Given the description of an element on the screen output the (x, y) to click on. 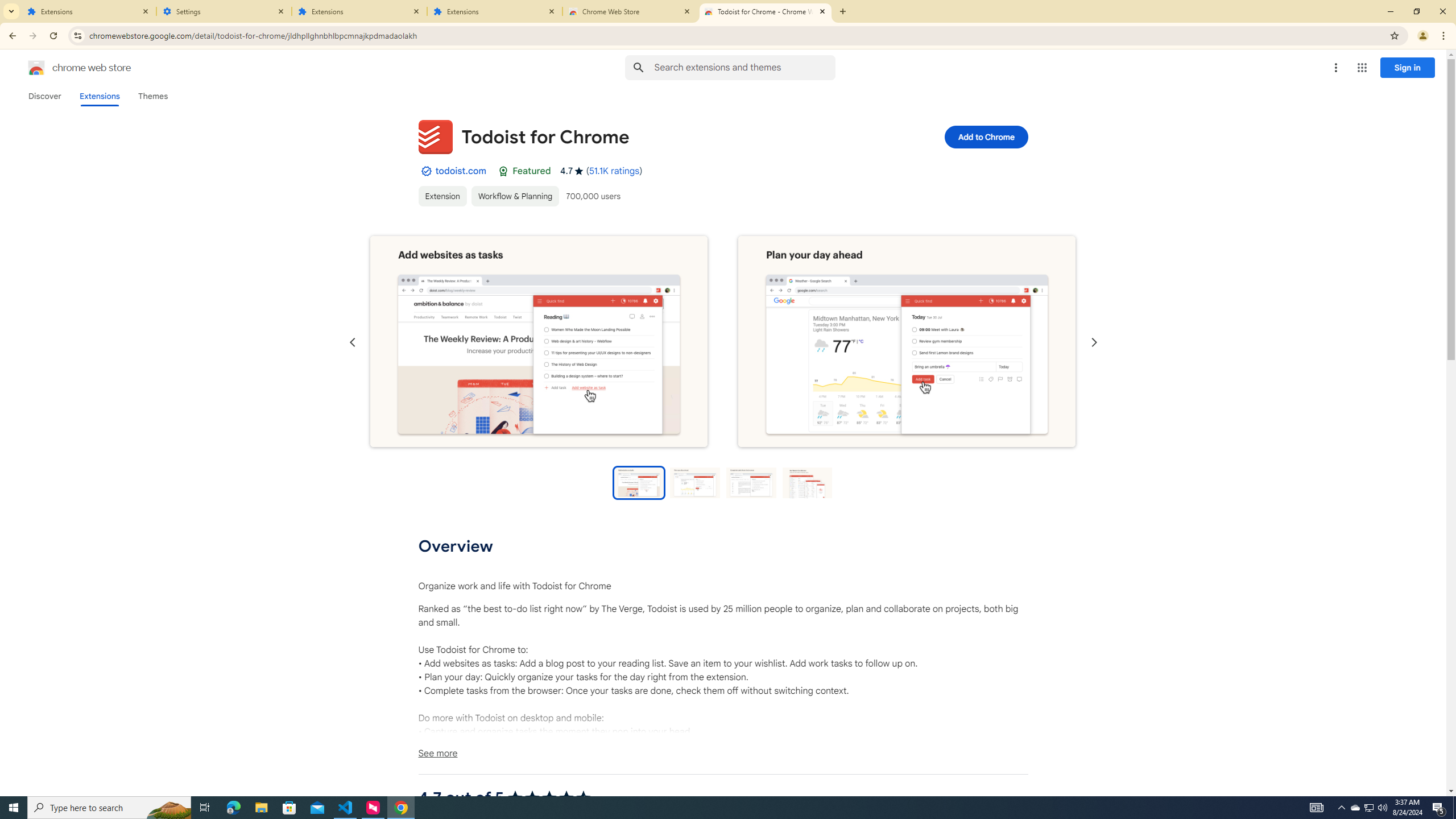
Preview slide 2 (694, 482)
Item media 2 screenshot (906, 341)
Item media 1 screenshot (538, 341)
Item media 2 screenshot (906, 342)
Next slide (1093, 342)
Workflow & Planning (514, 195)
Extensions (99, 95)
Discover (43, 95)
todoist.com (460, 170)
